Given the description of an element on the screen output the (x, y) to click on. 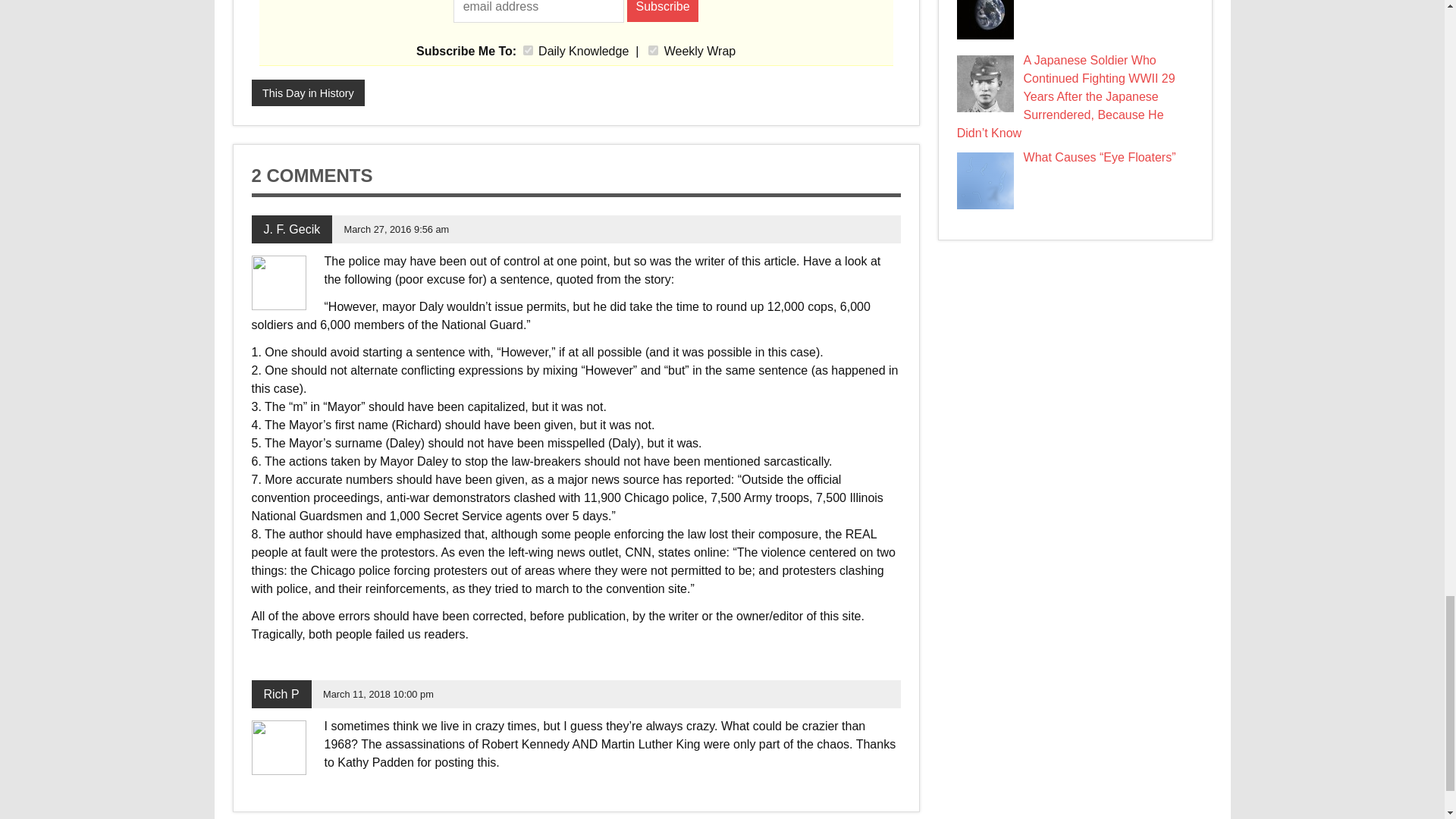
1 (527, 50)
2 (652, 50)
Subscribe (662, 10)
